Given the description of an element on the screen output the (x, y) to click on. 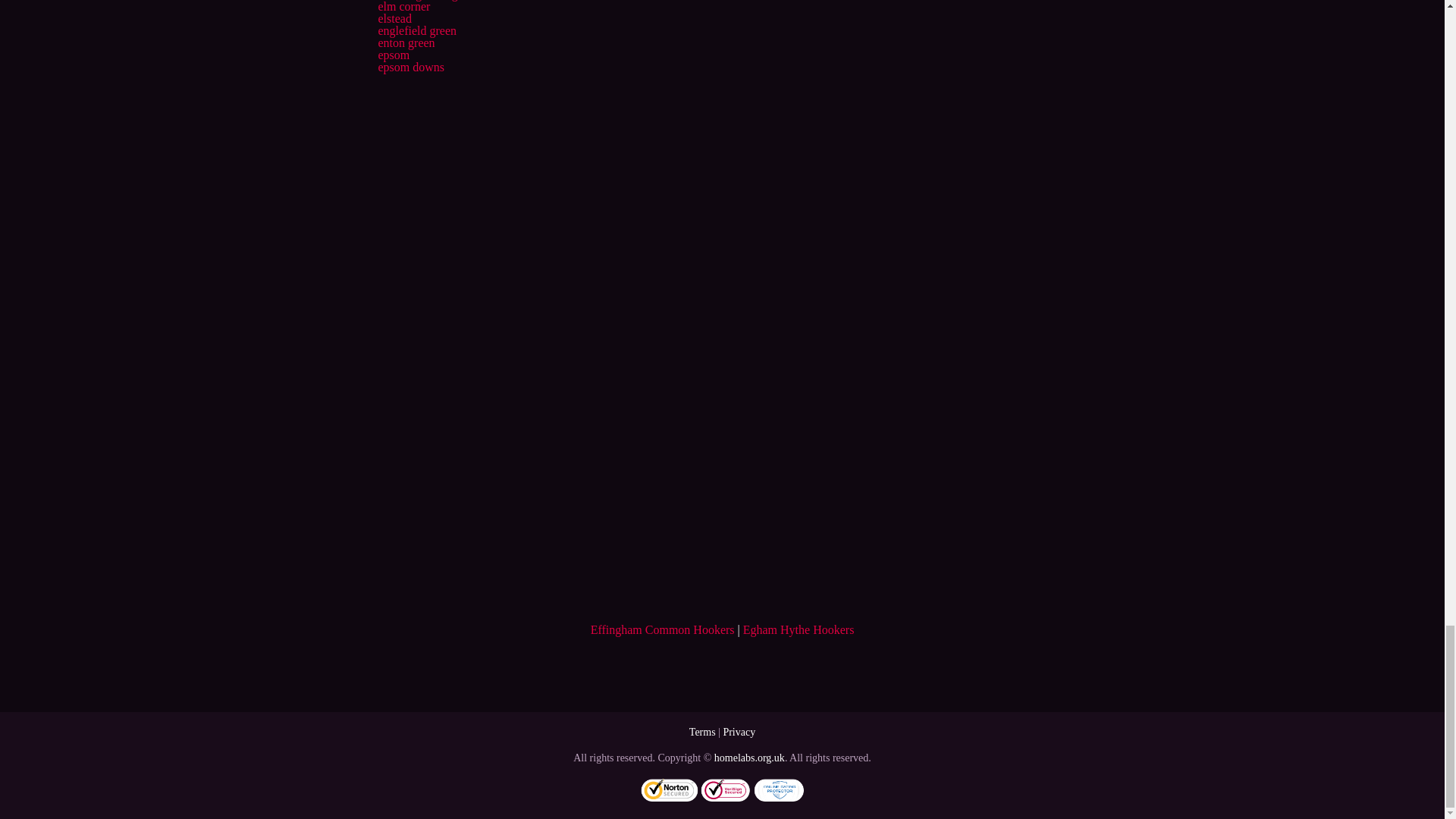
homelabs.org.uk (749, 757)
enton green (405, 42)
Effingham Common Hookers (663, 629)
Privacy (738, 731)
englefield green (417, 30)
epsom downs (410, 66)
elm corner (403, 6)
Egham Hythe Hookers (798, 629)
epsom (393, 54)
Terms (702, 731)
Terms (702, 731)
elstead (393, 18)
Privacy (738, 731)
